Given the description of an element on the screen output the (x, y) to click on. 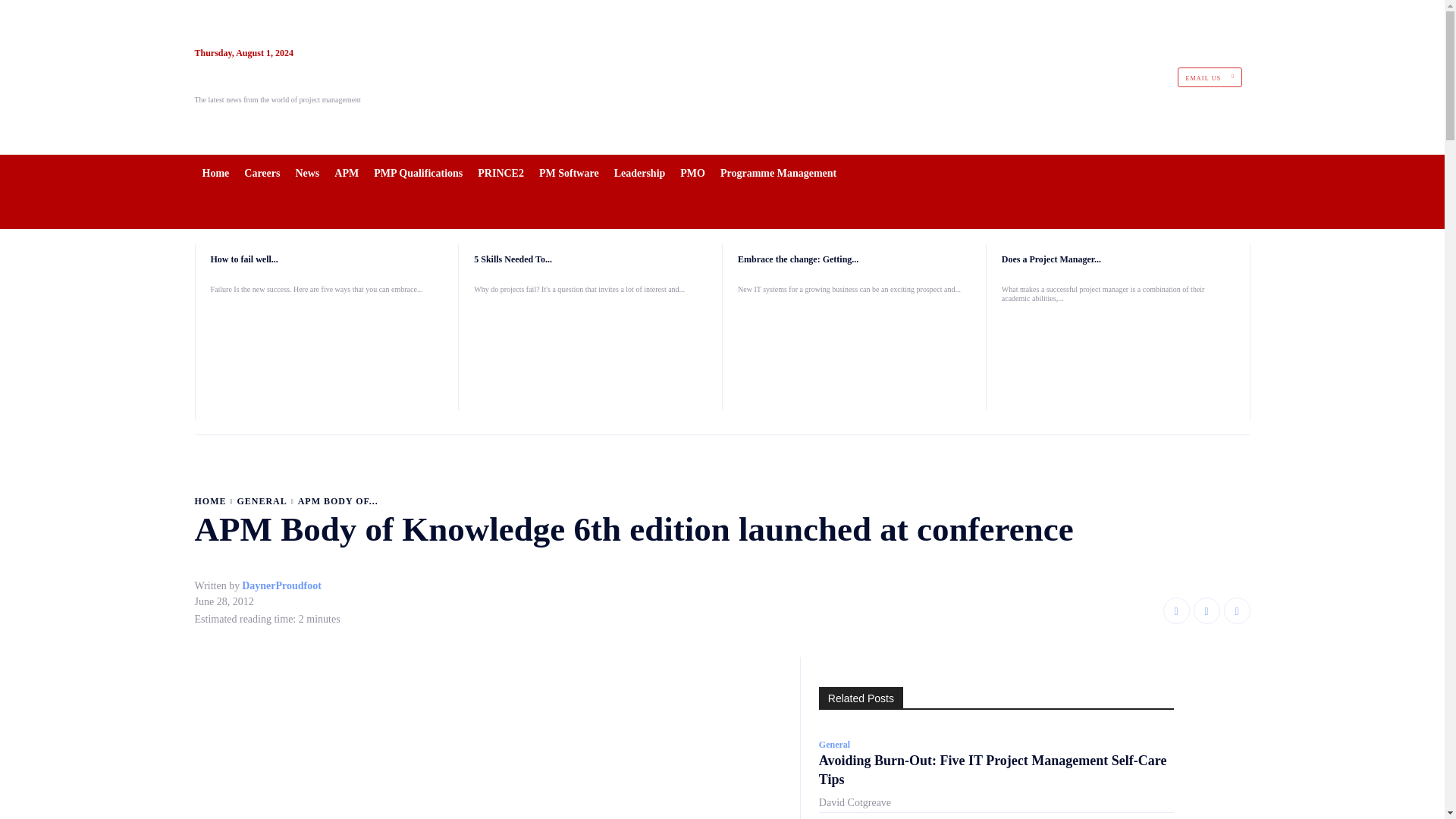
How to fail well in IT Projects (327, 352)
Embrace the change: Getting to grips with new IT systems (854, 352)
Does a Project Manager Need PM Qualifications? (1117, 361)
5 Skills Needed To Drive Future Projects (590, 352)
How to fail well in IT Projects (244, 258)
Embrace the change: Getting to grips with new IT systems (798, 258)
Email us (1209, 77)
5 Skills Needed To Drive Future Projects (512, 258)
Does a Project Manager Need PM Qualifications? (1050, 258)
